Given the description of an element on the screen output the (x, y) to click on. 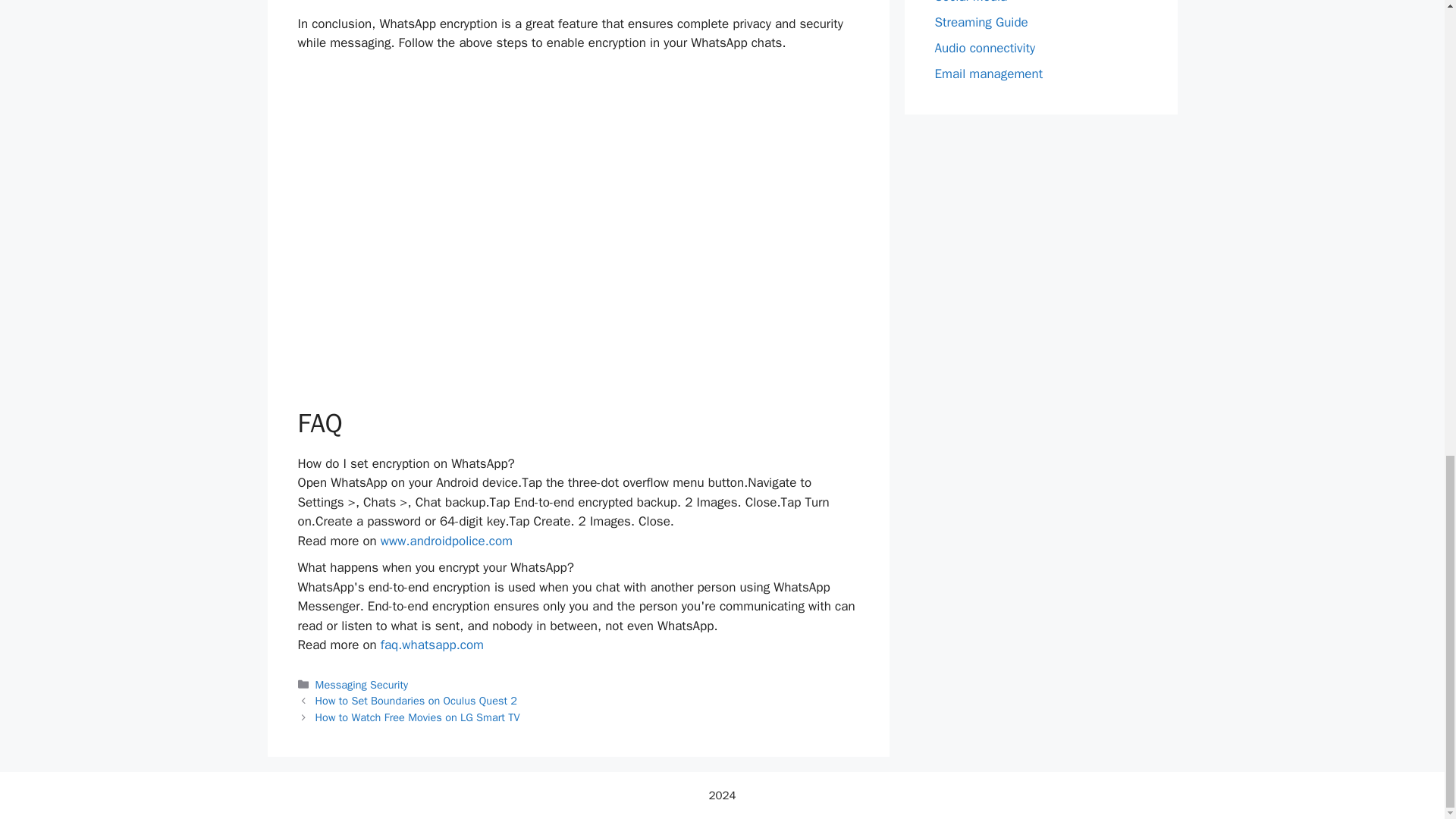
How to Set Boundaries on Oculus Quest 2 (415, 700)
Email management (988, 73)
Streaming Guide (980, 22)
How to Watch Free Movies on LG Smart TV (417, 716)
Messaging Security (362, 684)
faq.whatsapp.com (431, 644)
www.androidpolice.com (446, 540)
Social Media (970, 2)
Audio connectivity (984, 48)
